Given the description of an element on the screen output the (x, y) to click on. 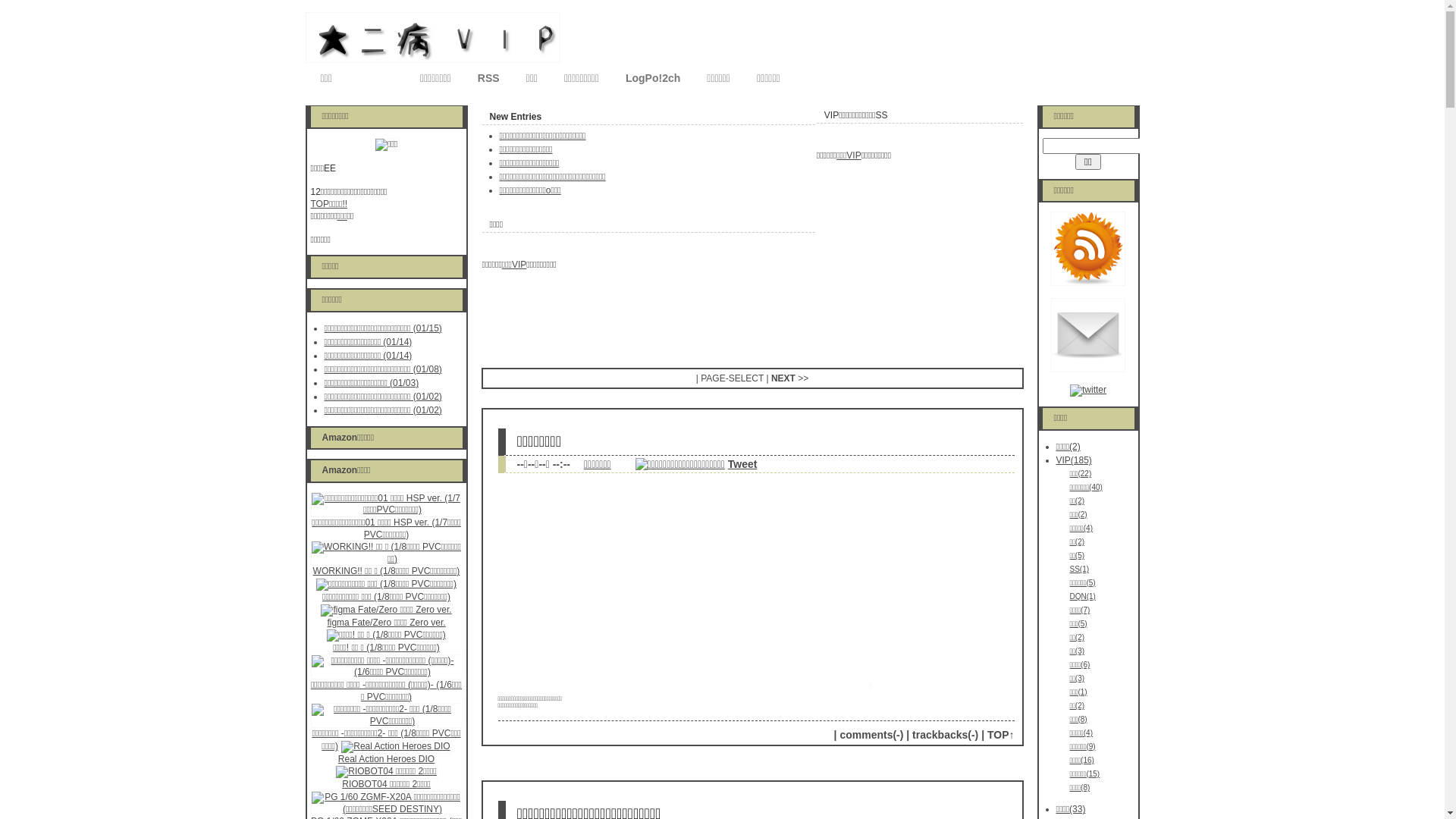
RSS Element type: text (488, 80)
Tweet Element type: text (742, 464)
SS(1) Element type: text (1078, 568)
VIP(185) Element type: text (1073, 460)
DQN(1) Element type: text (1082, 596)
NEXT Element type: text (783, 378)
Real Action Heroes DIO Element type: text (386, 758)
LogPo!2ch Element type: text (652, 80)
